Given the description of an element on the screen output the (x, y) to click on. 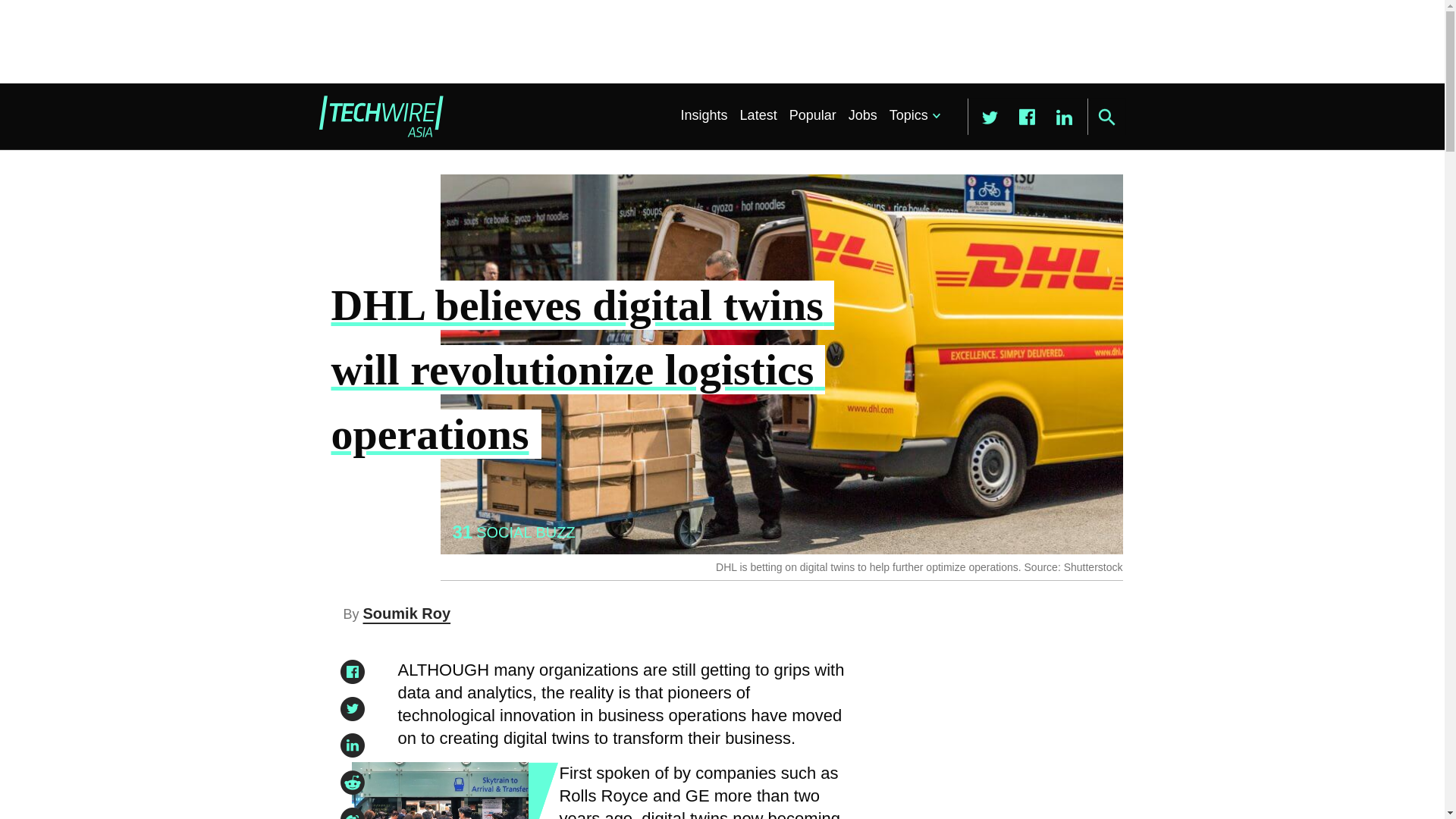
Jobs (863, 115)
3rd party ad content (721, 41)
Posts by Soumik Roy (406, 613)
Insights (704, 115)
Topics (911, 115)
Latest (758, 115)
3rd party ad content (988, 746)
Submit (1106, 116)
Submit (1106, 116)
Popular (813, 115)
Soumik Roy (406, 613)
